Given the description of an element on the screen output the (x, y) to click on. 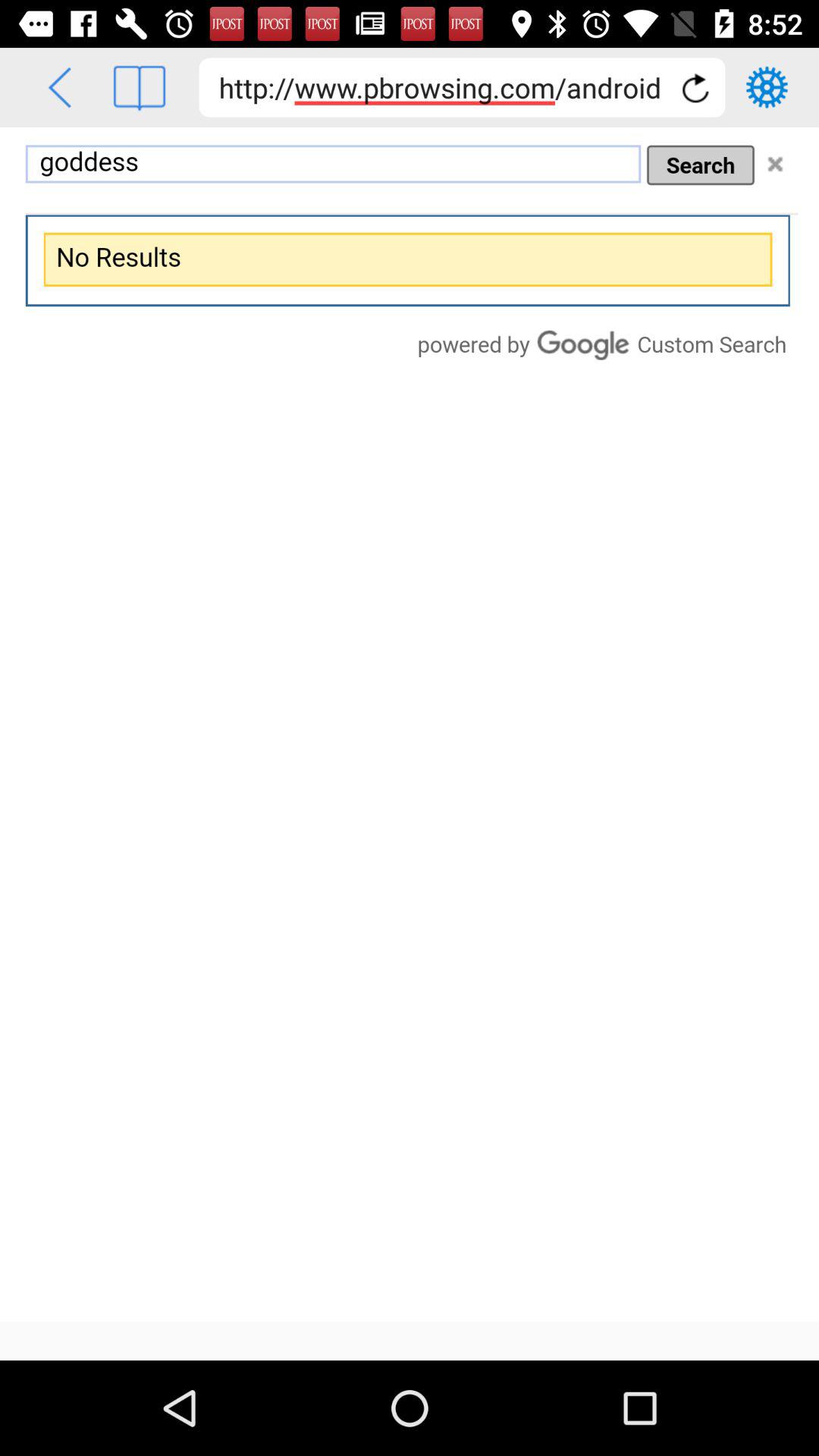
description (409, 724)
